Given the description of an element on the screen output the (x, y) to click on. 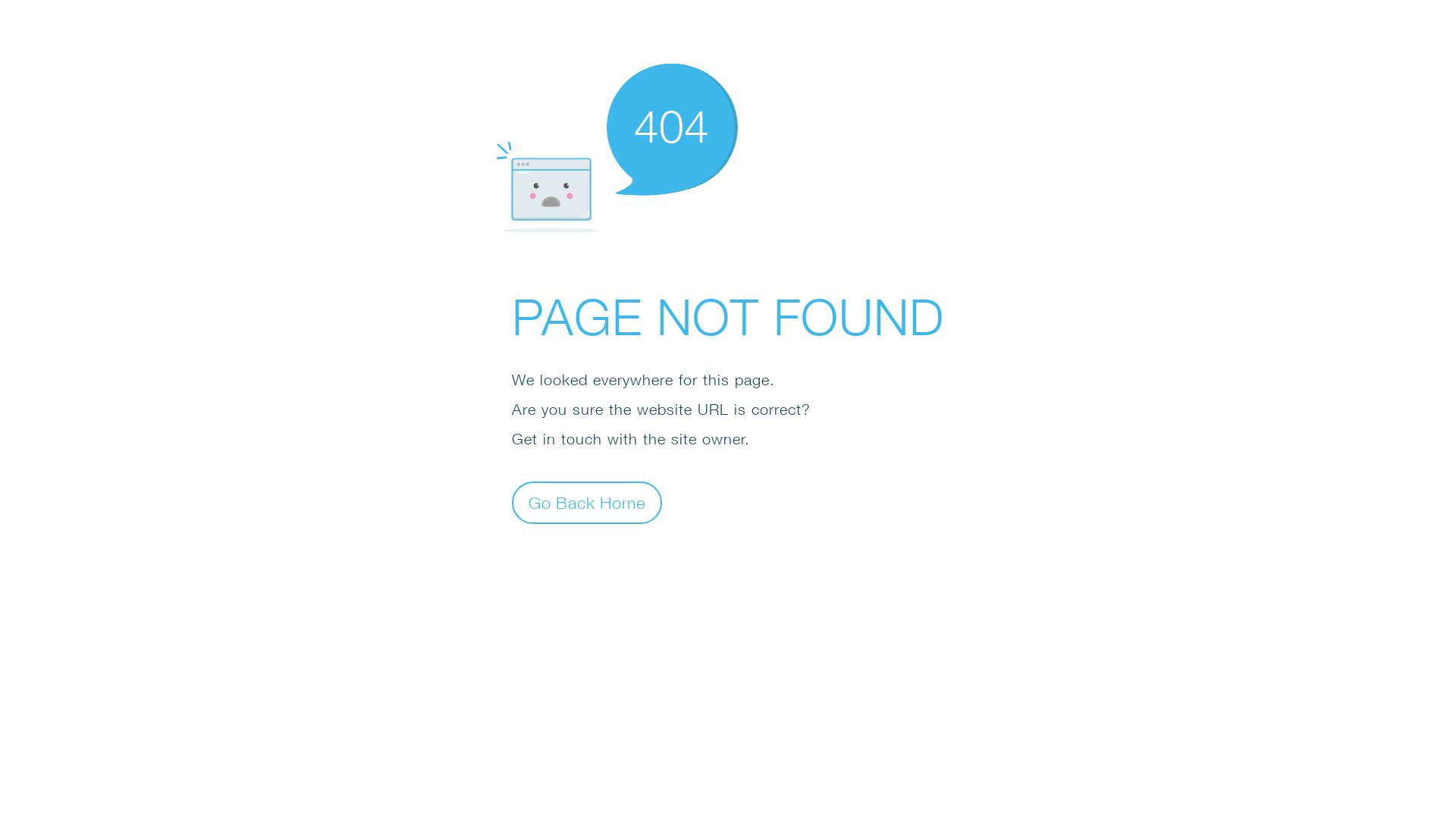
Go Back Home Element type: text (586, 502)
